Given the description of an element on the screen output the (x, y) to click on. 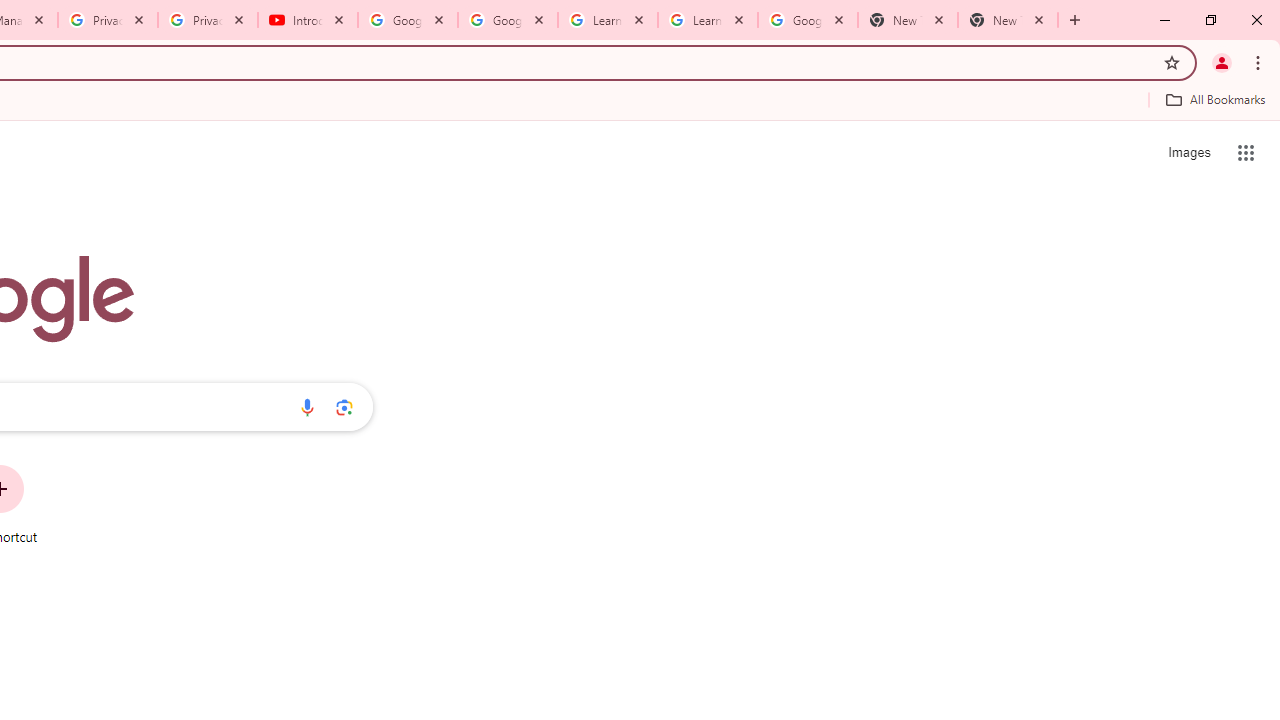
New Tab (907, 20)
Google Account (807, 20)
